Given the description of an element on the screen output the (x, y) to click on. 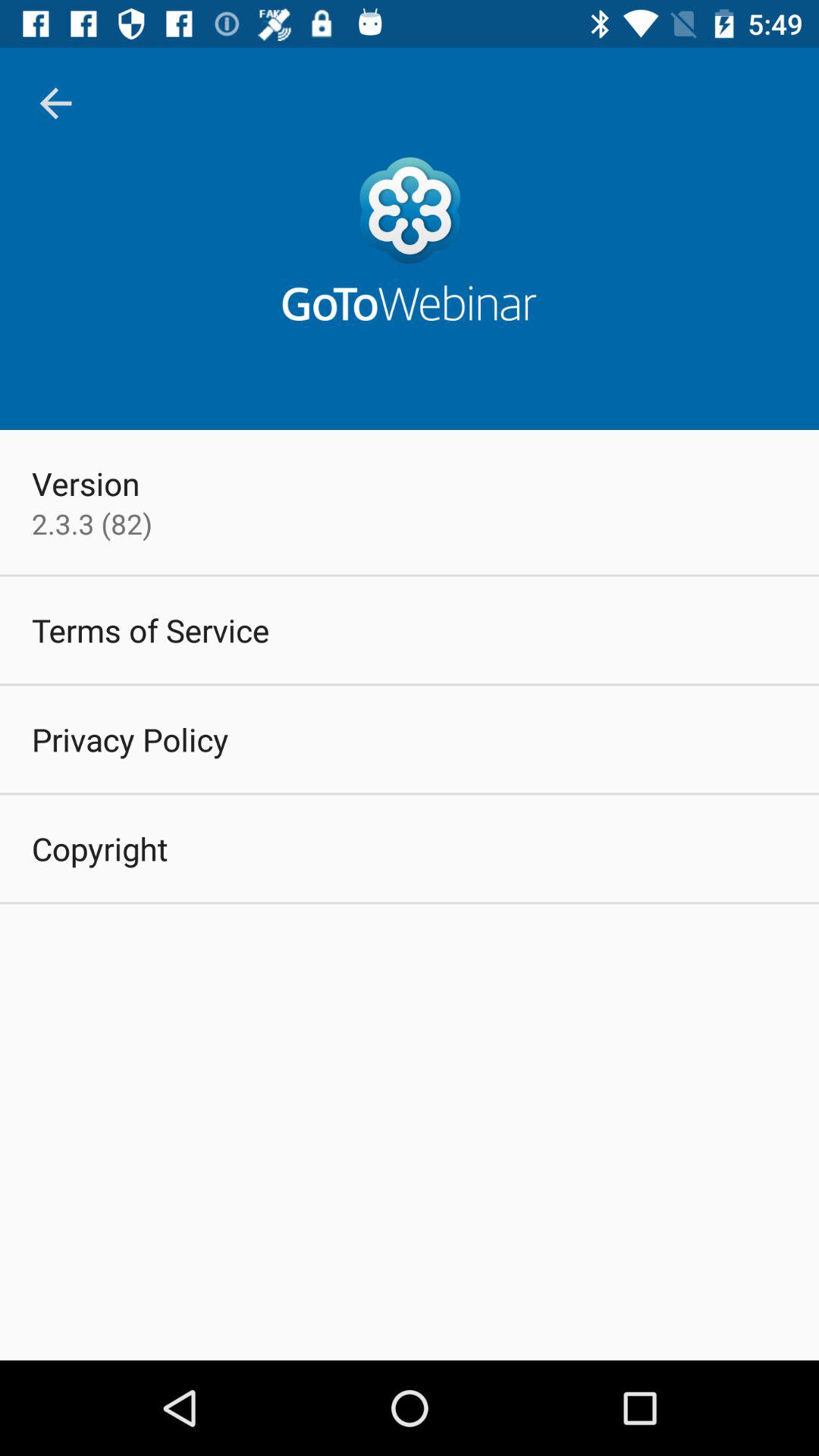
turn on the item below the privacy policy (99, 848)
